Given the description of an element on the screen output the (x, y) to click on. 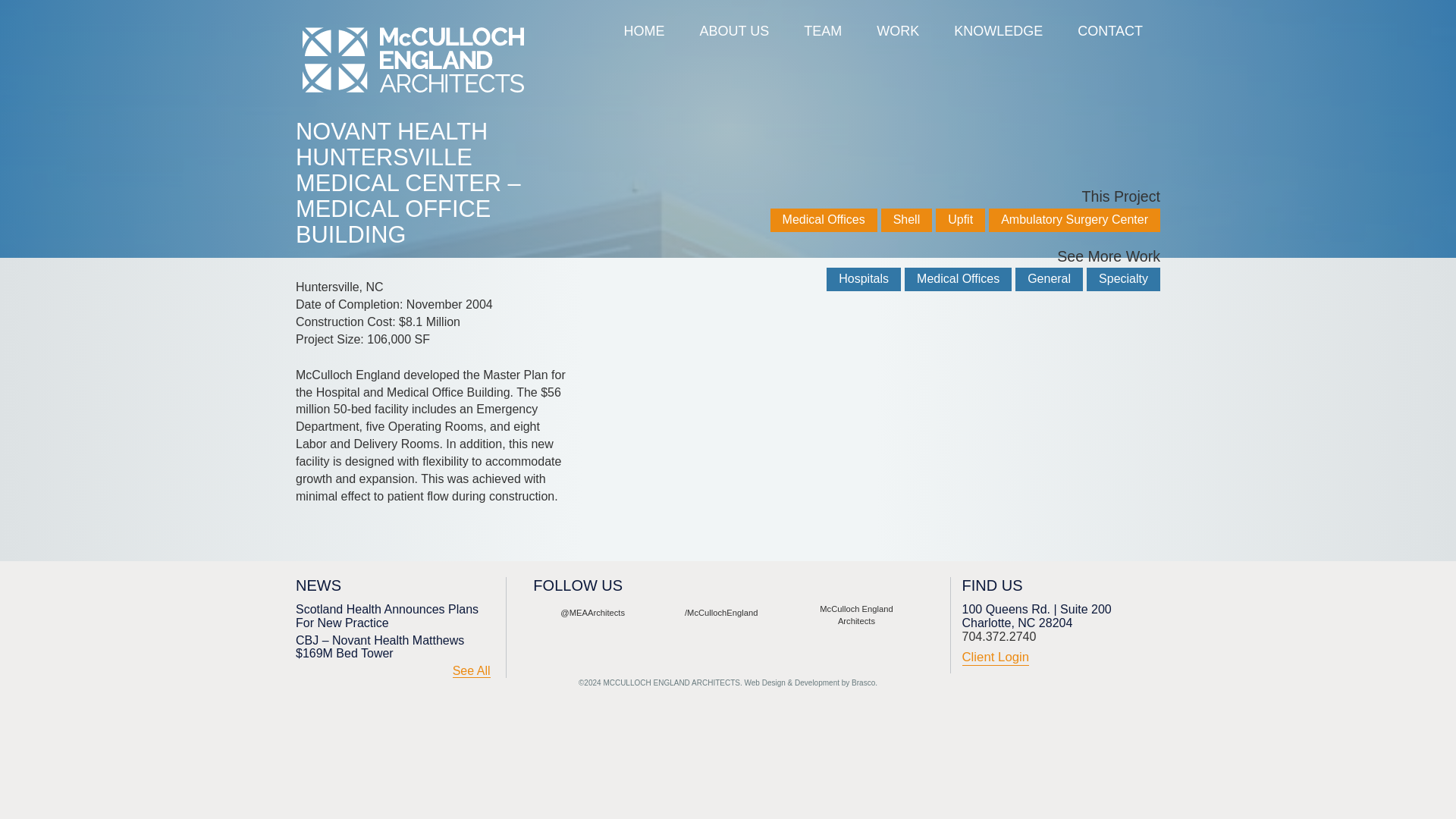
CONTACT (1110, 31)
Shell (906, 219)
Brasco. (864, 682)
General (1048, 279)
KNOWLEDGE (998, 31)
TEAM (822, 31)
Upfit (960, 219)
Ambulatory Surgery Center (1074, 219)
Medical Offices (957, 279)
Scotland Health Announces Plans For New Practice (392, 615)
See All (471, 671)
Development (817, 682)
HOME (644, 31)
Web Design (765, 682)
Hospitals (864, 279)
